Given the description of an element on the screen output the (x, y) to click on. 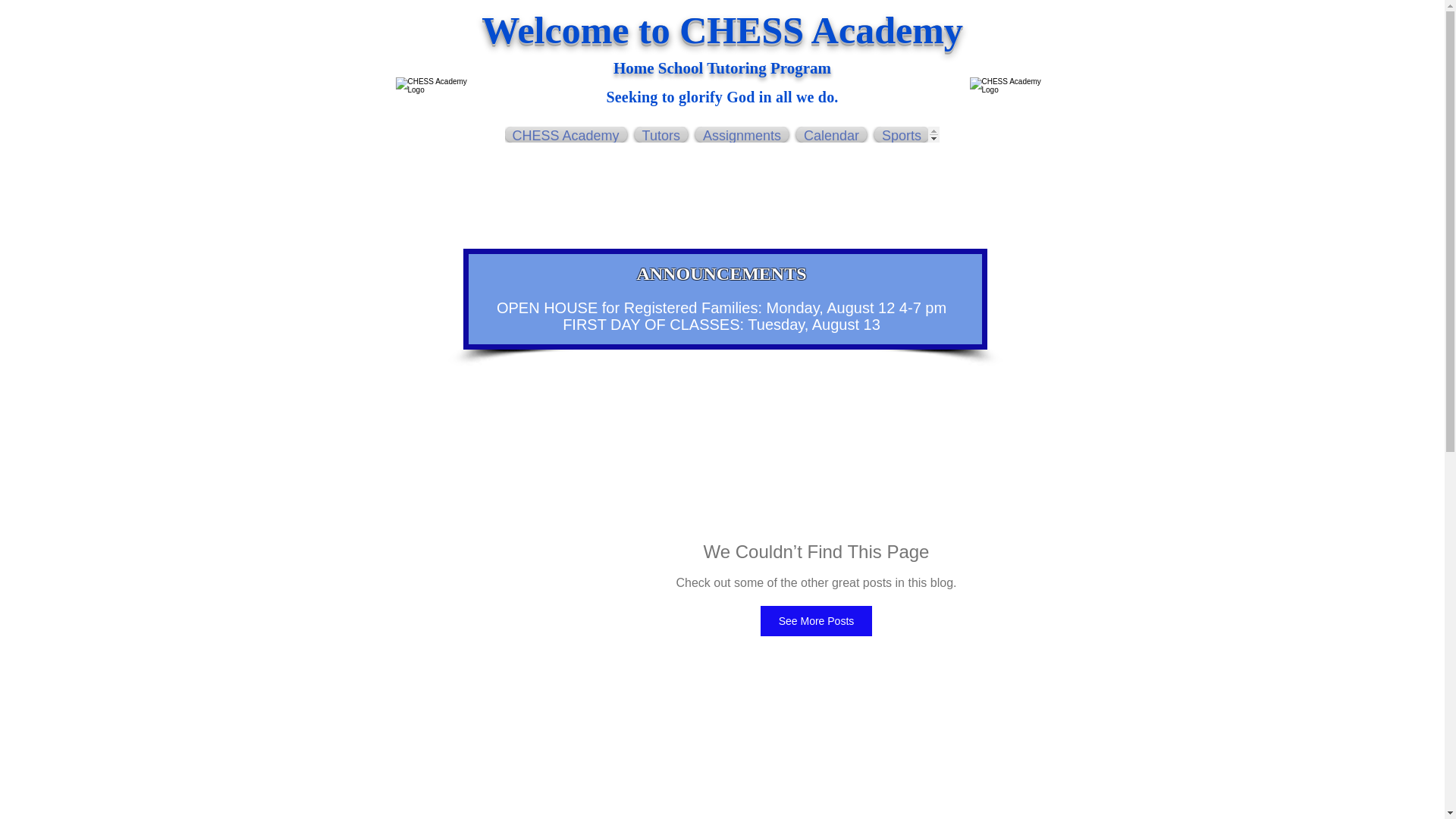
CHESS Academy (567, 134)
Calendar (831, 134)
Assignments (741, 134)
See More Posts (816, 621)
